Given the description of an element on the screen output the (x, y) to click on. 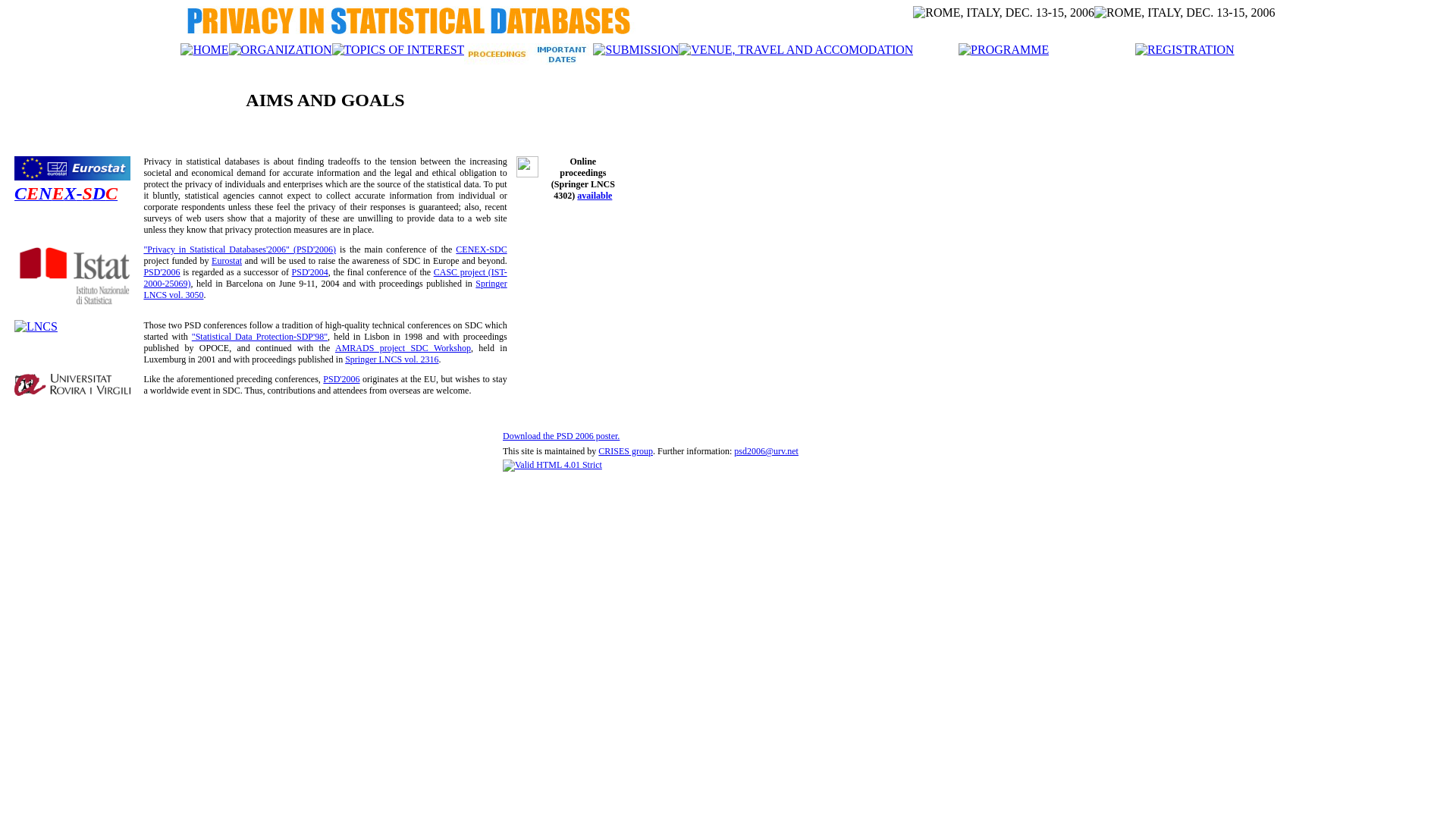
AMRADS project SDC Workshop Element type: text (402, 347)
Springer LNCS vol. 3050 Element type: text (324, 289)
psd2006@urv.net Element type: text (766, 450)
CASC project (IST-2000-25069) Element type: text (324, 277)
Download the PSD 2006 poster. Element type: text (560, 435)
CENEX-SDC Element type: text (65, 196)
PSD'2006 Element type: text (161, 271)
CRISES group Element type: text (625, 450)
Eurostat Element type: text (226, 260)
PSD'2006 Element type: text (341, 378)
PSD'2004 Element type: text (309, 271)
Springer LNCS vol. 2316 Element type: text (391, 359)
available Element type: text (594, 195)
CENEX-SDC Element type: text (480, 249)
"Statistical Data Protection-SDP'98" Element type: text (259, 336)
"Privacy in Statistical Databases'2006" (PSD'2006) Element type: text (239, 249)
